Given the description of an element on the screen output the (x, y) to click on. 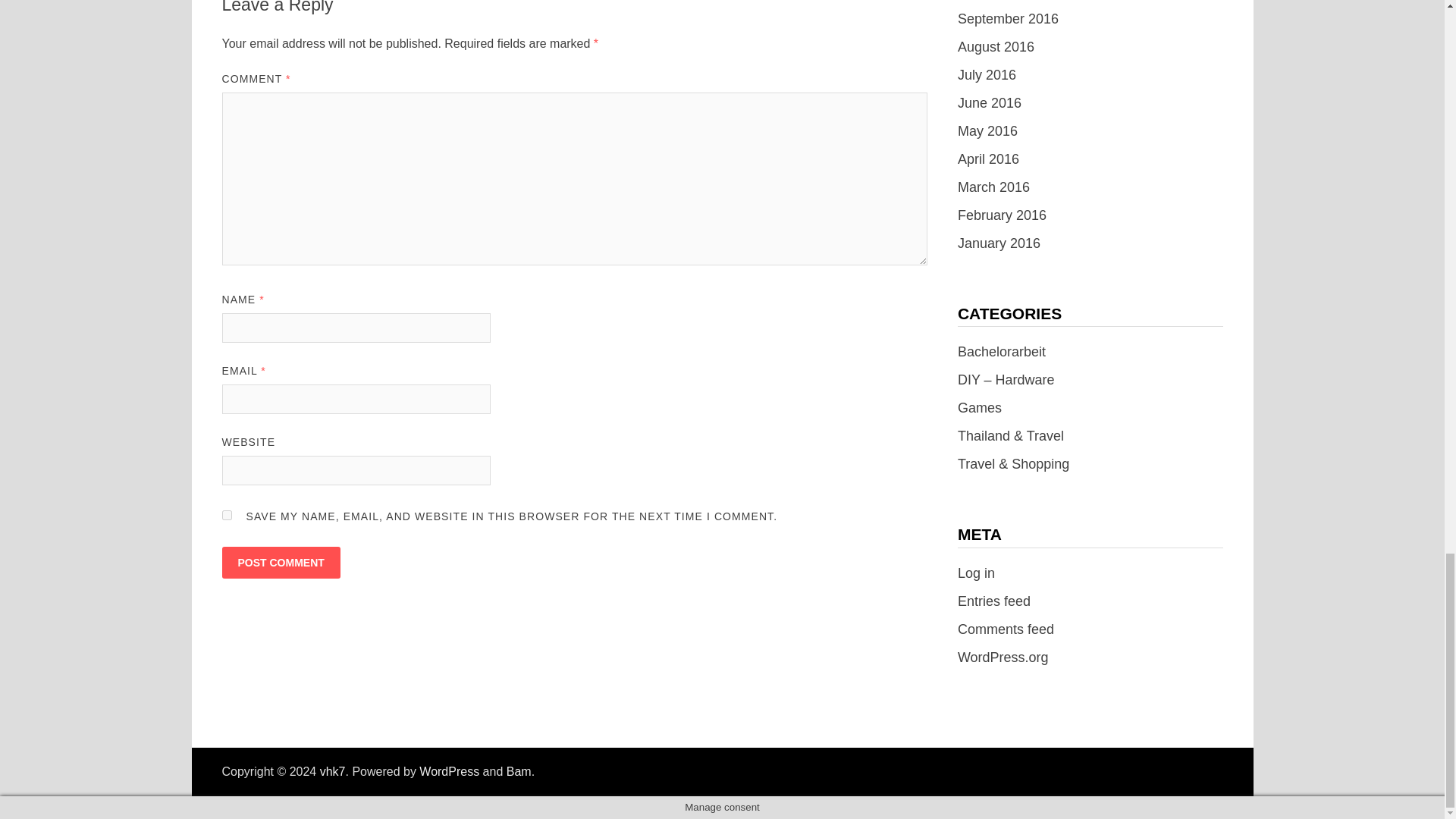
Post Comment (280, 562)
yes (226, 515)
Post Comment (280, 562)
vhk7 (333, 771)
